Given the description of an element on the screen output the (x, y) to click on. 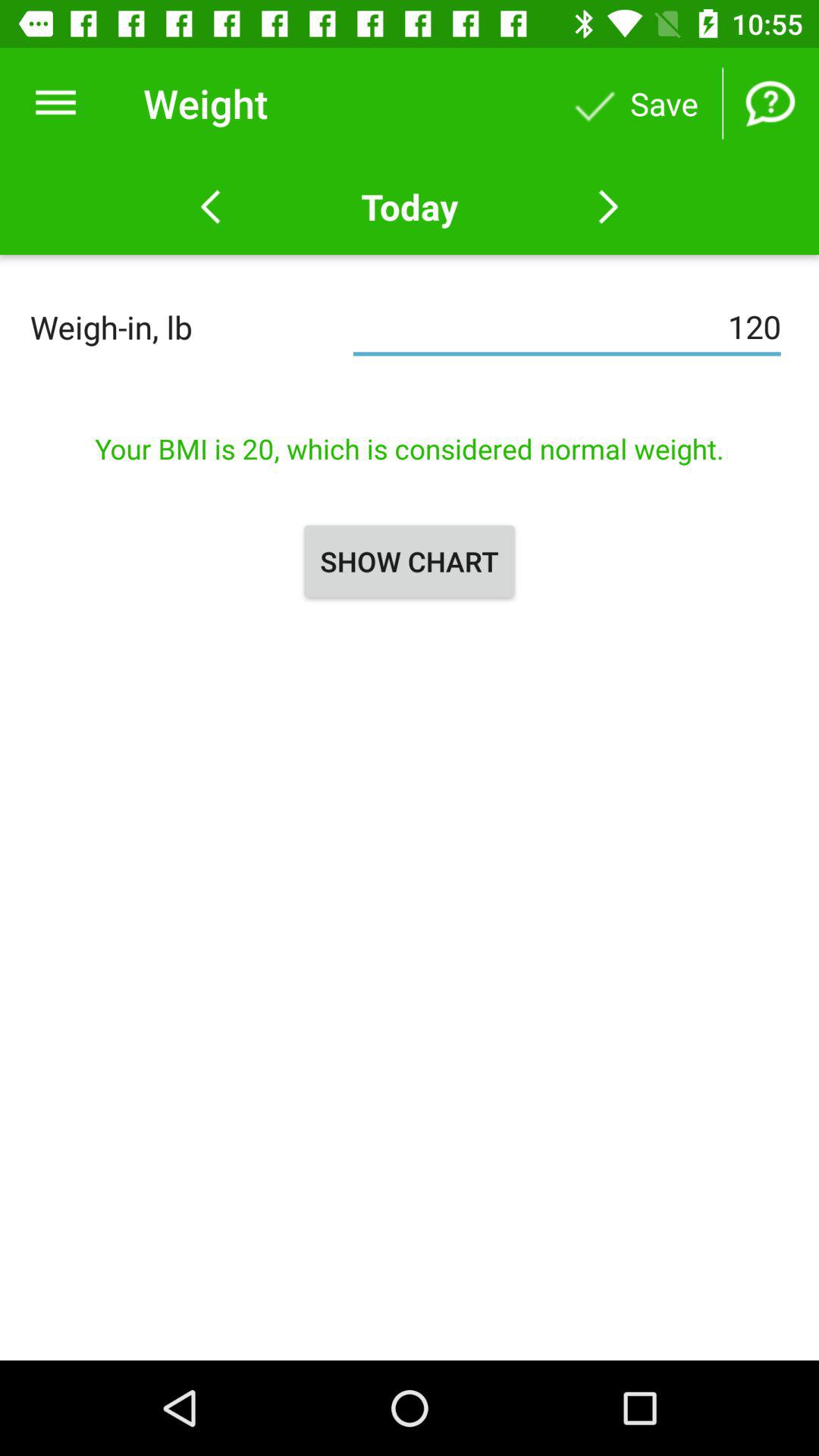
choose icon above the 120 icon (409, 206)
